Given the description of an element on the screen output the (x, y) to click on. 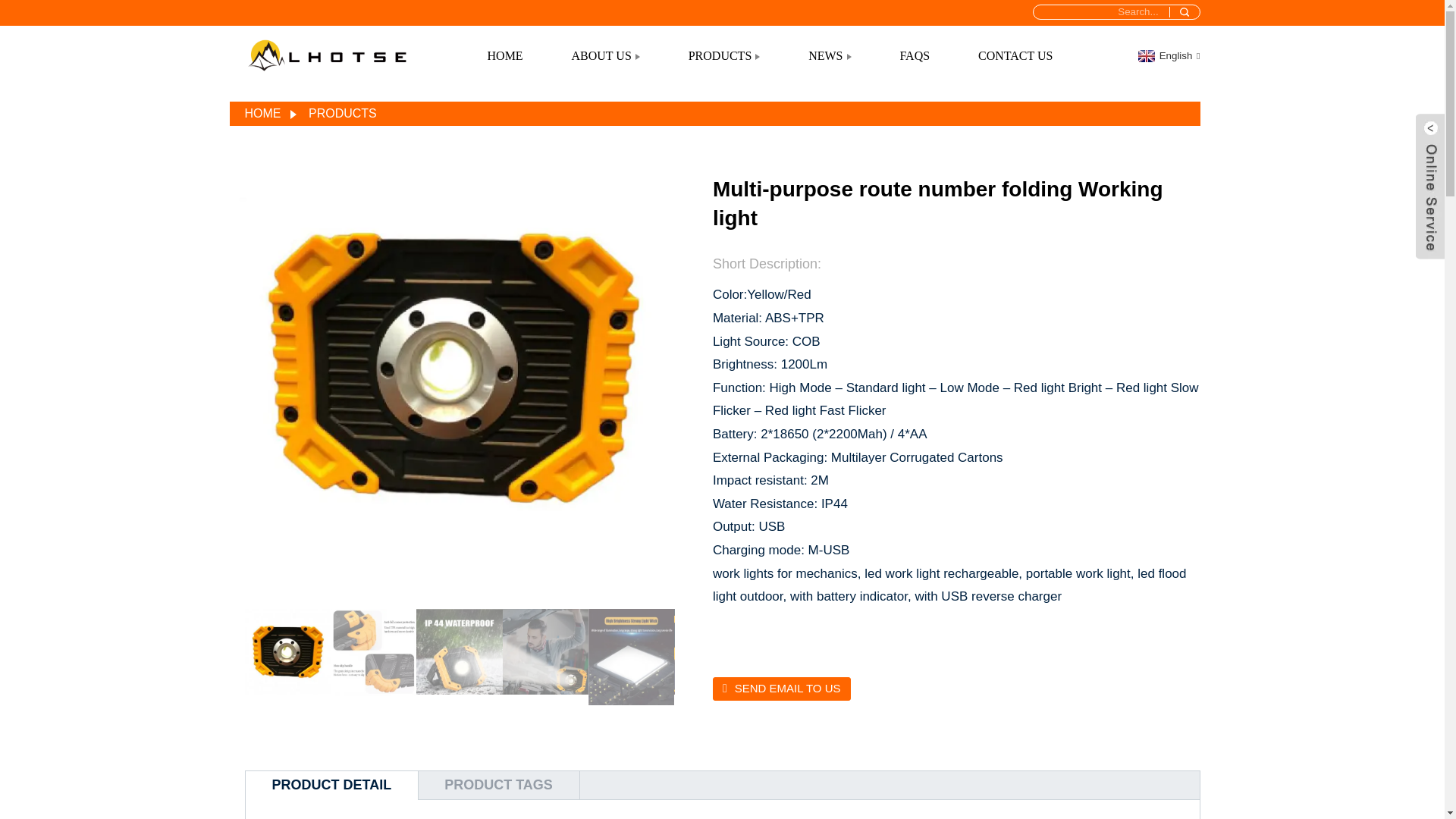
NEWS (829, 55)
CONTACT US (1014, 55)
ABOUT US (605, 55)
PRODUCTS (724, 55)
FAQS (913, 55)
HOME (504, 55)
English (1166, 55)
